Given the description of an element on the screen output the (x, y) to click on. 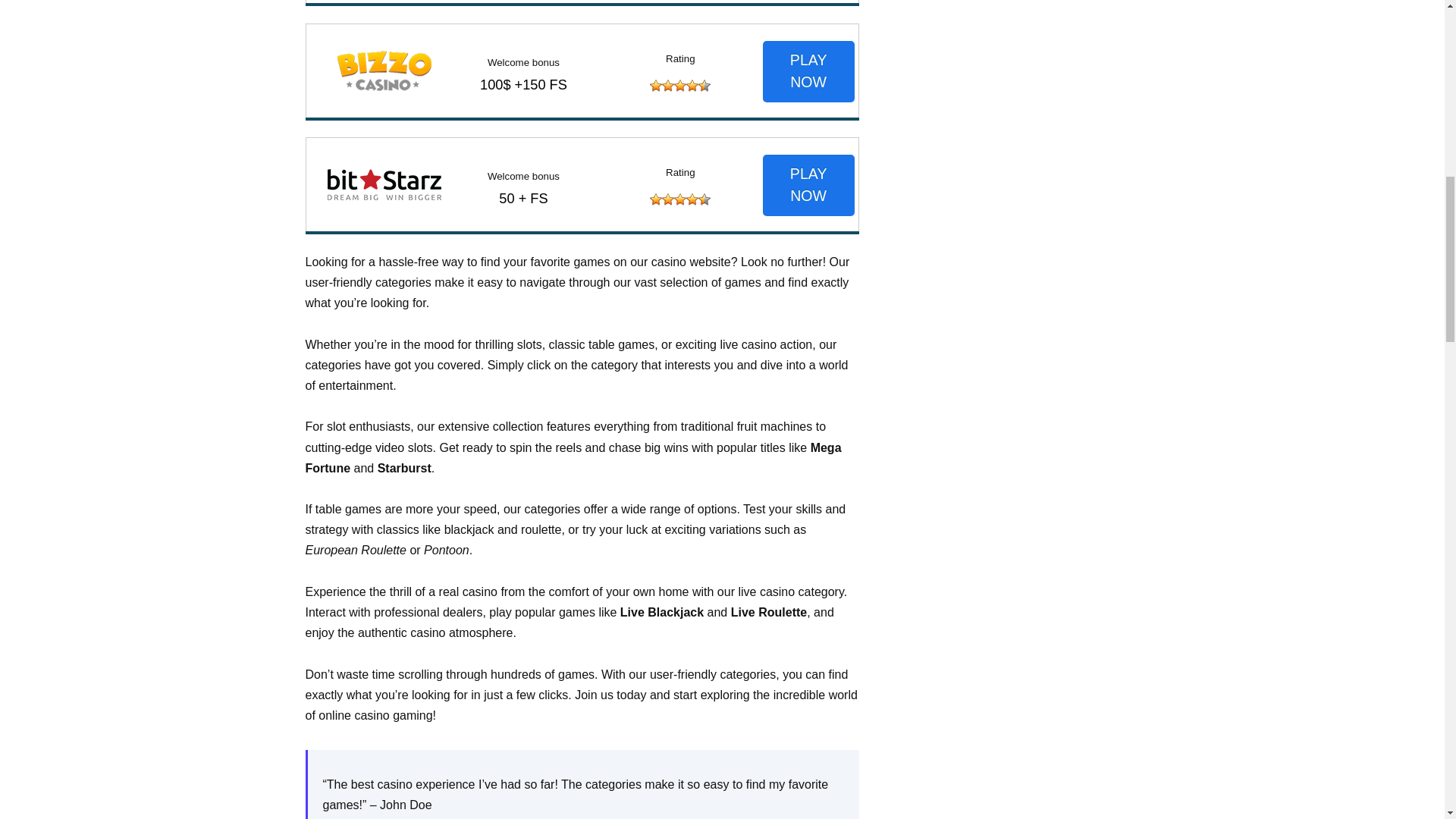
PLAY NOW (808, 185)
PLAY NOW (808, 71)
